Given the description of an element on the screen output the (x, y) to click on. 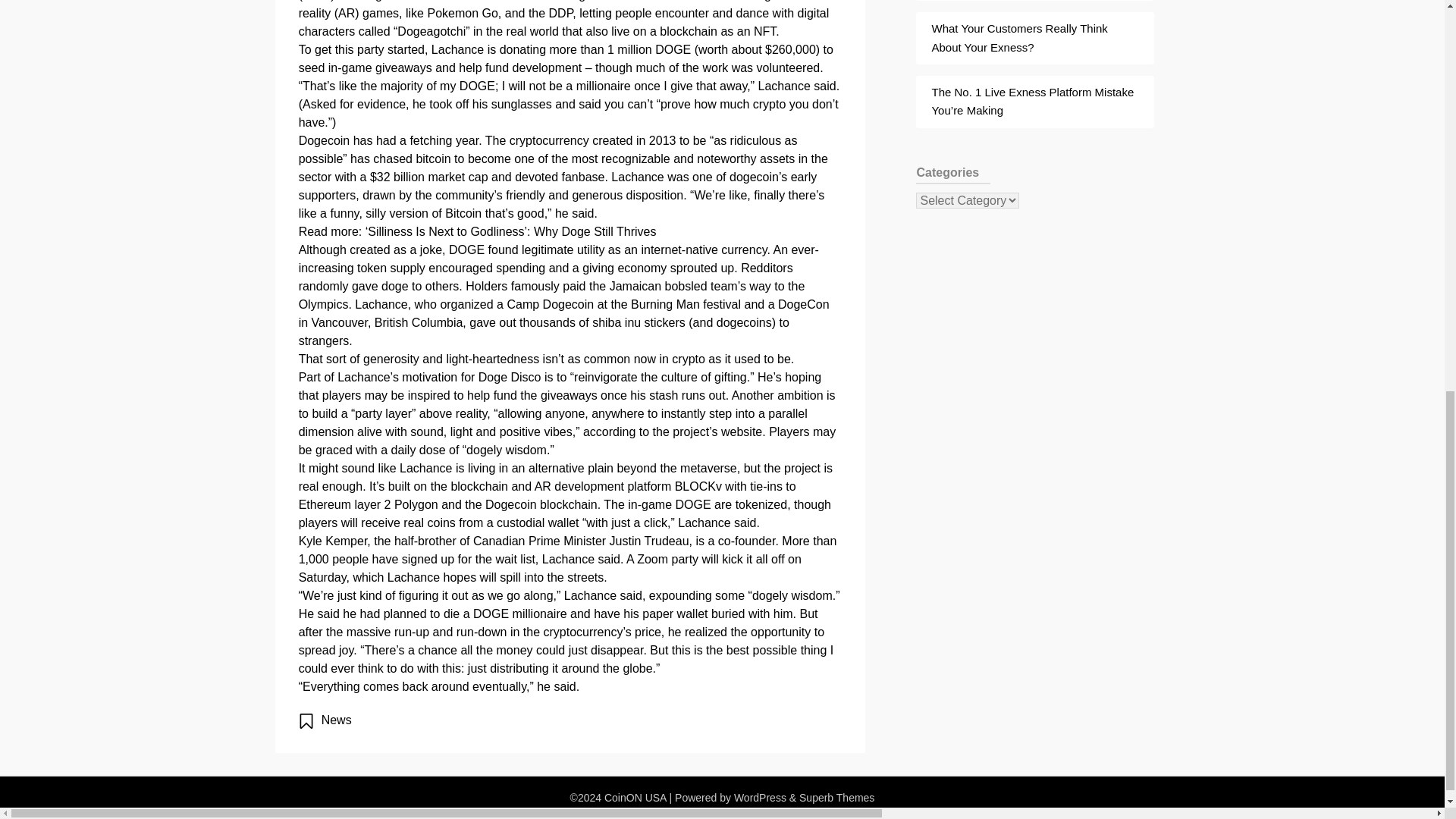
What Your Customers Really Think About Your Exness? (1018, 37)
News (336, 719)
Superb Themes (837, 797)
WordPress (759, 797)
